Given the description of an element on the screen output the (x, y) to click on. 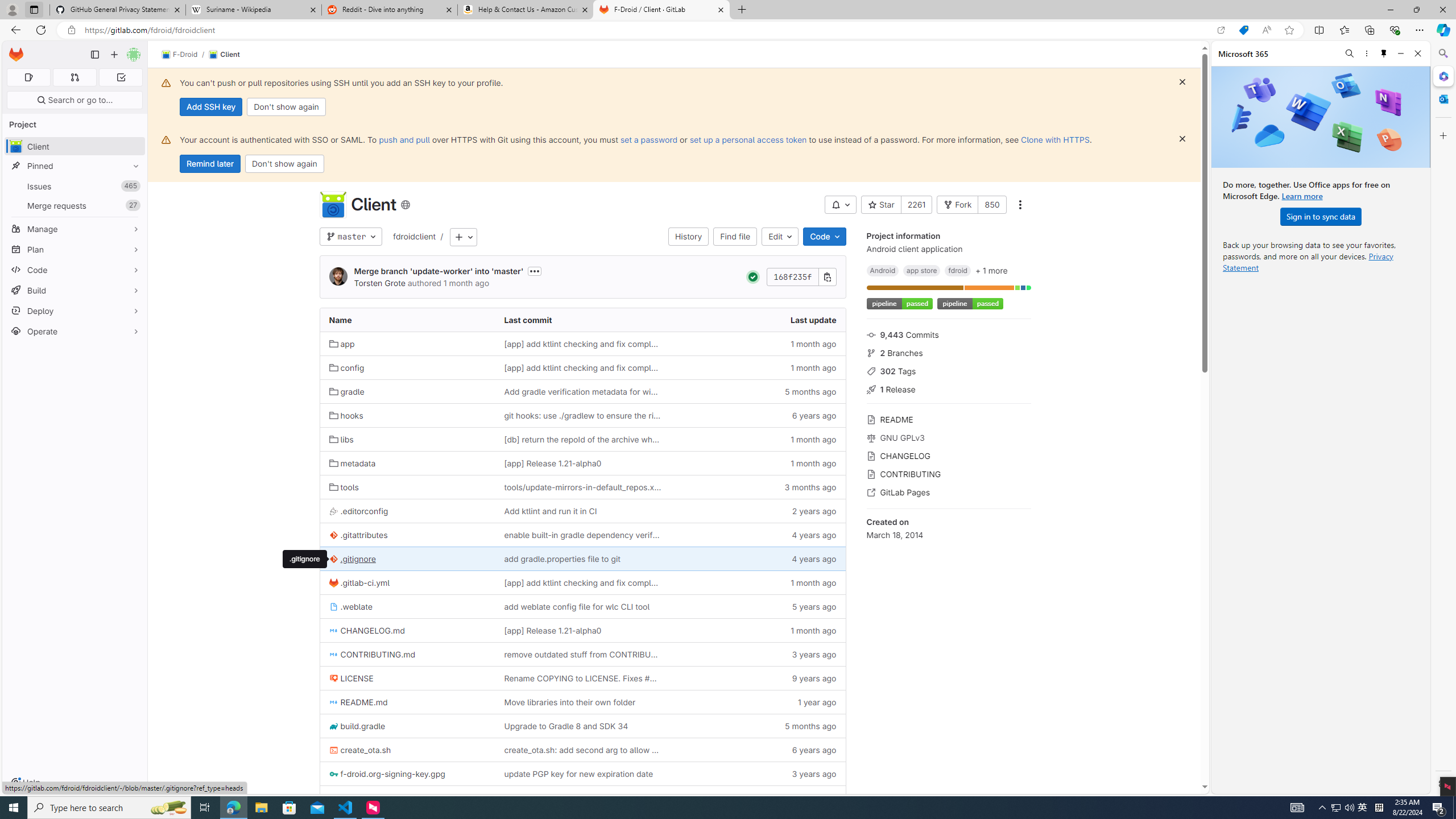
gradle.properties (367, 797)
Build (74, 289)
.editorconfig (407, 510)
CONTRIBUTING.md (372, 654)
f-droid.org-signing-key.gpg (387, 774)
app store (922, 269)
Copy commit SHA (827, 276)
Shopping in Microsoft Edge (1243, 29)
Merge branch 'update-worker' into 'master' (438, 271)
Add to tree (463, 236)
Operate (74, 330)
GitLab Pages (948, 491)
config (407, 367)
